Given the description of an element on the screen output the (x, y) to click on. 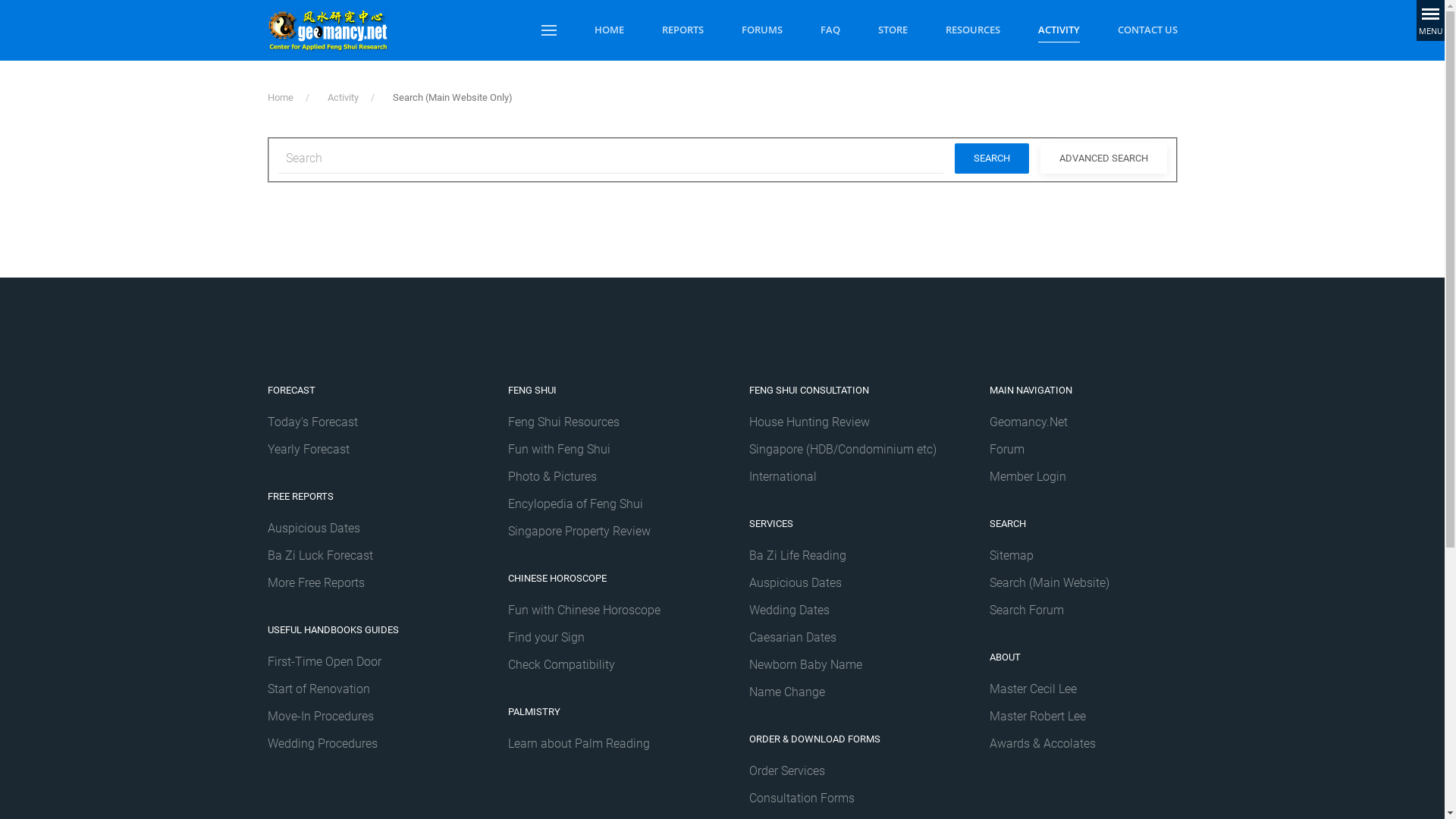
International Element type: text (782, 476)
Singapore (HDB/Condominium etc) Element type: text (842, 449)
Yearly Forecast Element type: text (307, 449)
Name Change Element type: text (787, 691)
House Hunting Review Element type: text (809, 421)
Wedding Dates Element type: text (843, 610)
Caesarian Dates Element type: text (792, 637)
Member Login Element type: text (1027, 476)
SEARCH Element type: text (990, 158)
Fun with Feng Shui Element type: text (559, 449)
Today's Forecast Element type: text (311, 421)
Start of Renovation Element type: text (317, 688)
REPORTS Element type: text (681, 30)
Learn about Palm Reading Element type: text (578, 743)
FORUMS Element type: text (761, 30)
Auspicious Dates Element type: text (312, 527)
Order Services Element type: text (787, 770)
Activity Element type: text (342, 97)
Ba Zi Life Reading Element type: text (797, 555)
RESOURCES Element type: text (971, 30)
HOME Element type: text (609, 30)
CONTACT US Element type: text (1147, 30)
Ba Zi Luck Forecast Element type: text (319, 555)
Awards & Accolates Element type: text (1042, 743)
ADVANCED SEARCH Element type: text (1103, 158)
Consultation Forms Element type: text (801, 797)
Search Forum Element type: text (1083, 610)
Fun with Chinese Horoscope Element type: text (584, 609)
Move-In Procedures Element type: text (319, 716)
Sitemap Element type: text (1011, 555)
Feng Shui Resources Element type: text (563, 421)
Newborn Baby Name Element type: text (805, 664)
Wedding Procedures Element type: text (321, 743)
Check Compatibility Element type: text (561, 664)
Singapore Property Review Element type: text (579, 531)
First-Time Open Door Element type: text (323, 661)
More Free Reports Element type: text (315, 582)
Master Cecil Lee Element type: text (1032, 688)
Home Element type: text (279, 97)
Encylopedia of Feng Shui Element type: text (575, 503)
STORE Element type: text (892, 30)
ACTIVITY Element type: text (1058, 30)
Find your Sign Element type: text (546, 637)
Geomancy.Net Element type: text (1028, 421)
Master Robert Lee Element type: text (1083, 716)
FAQ Element type: text (830, 30)
Forum Element type: text (1006, 449)
Auspicious Dates Element type: text (843, 583)
Photo & Pictures Element type: text (552, 476)
Search (Main Website) Element type: text (1083, 583)
